Given the description of an element on the screen output the (x, y) to click on. 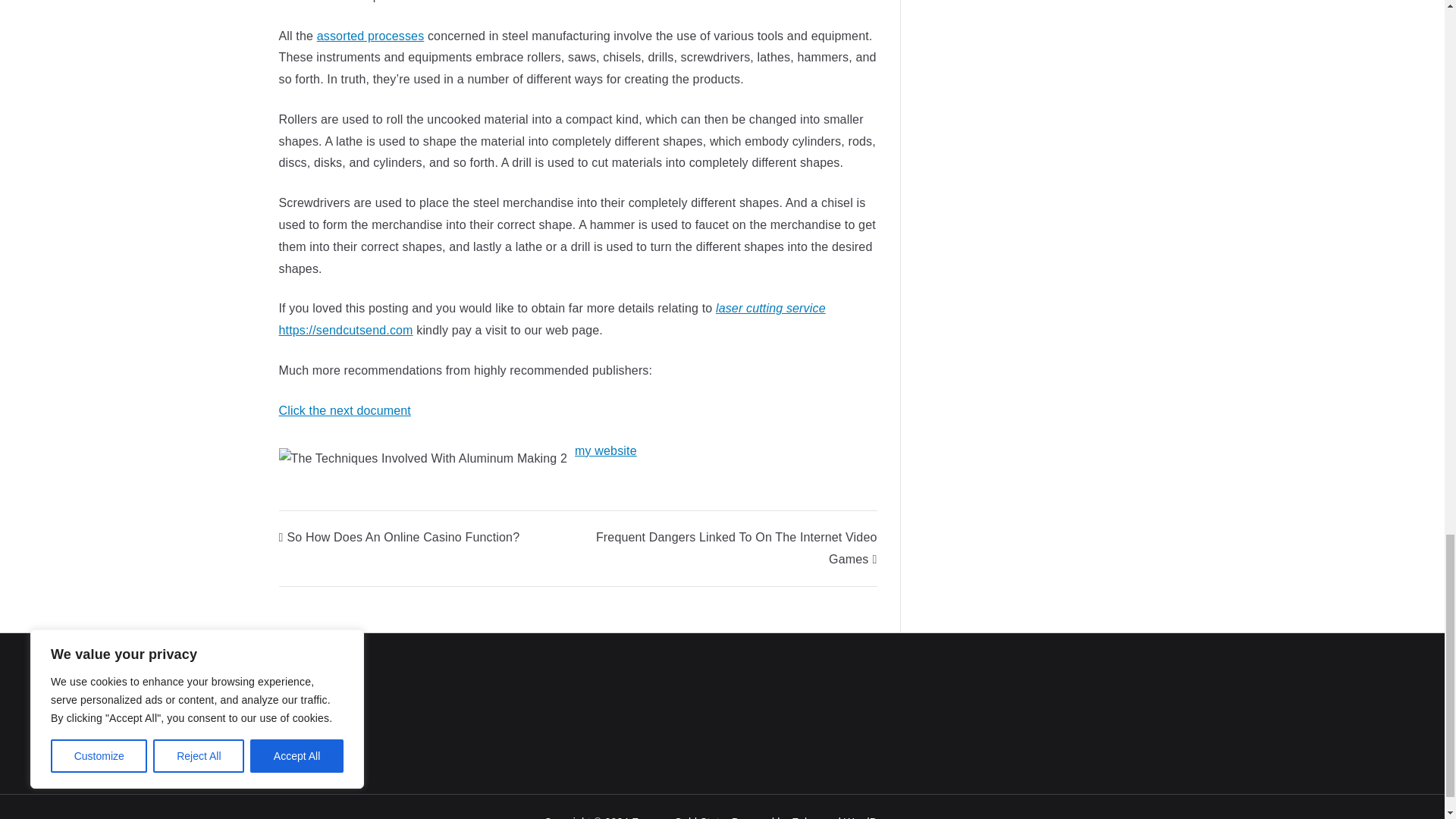
assorted processes (371, 34)
Zakra (805, 817)
Famous Gold State (678, 817)
WordPress (870, 817)
my website (606, 450)
Click the next document (344, 410)
So How Does An Online Casino Function? (399, 536)
Frequent Dangers Linked To On The Internet Video Games (736, 547)
